Given the description of an element on the screen output the (x, y) to click on. 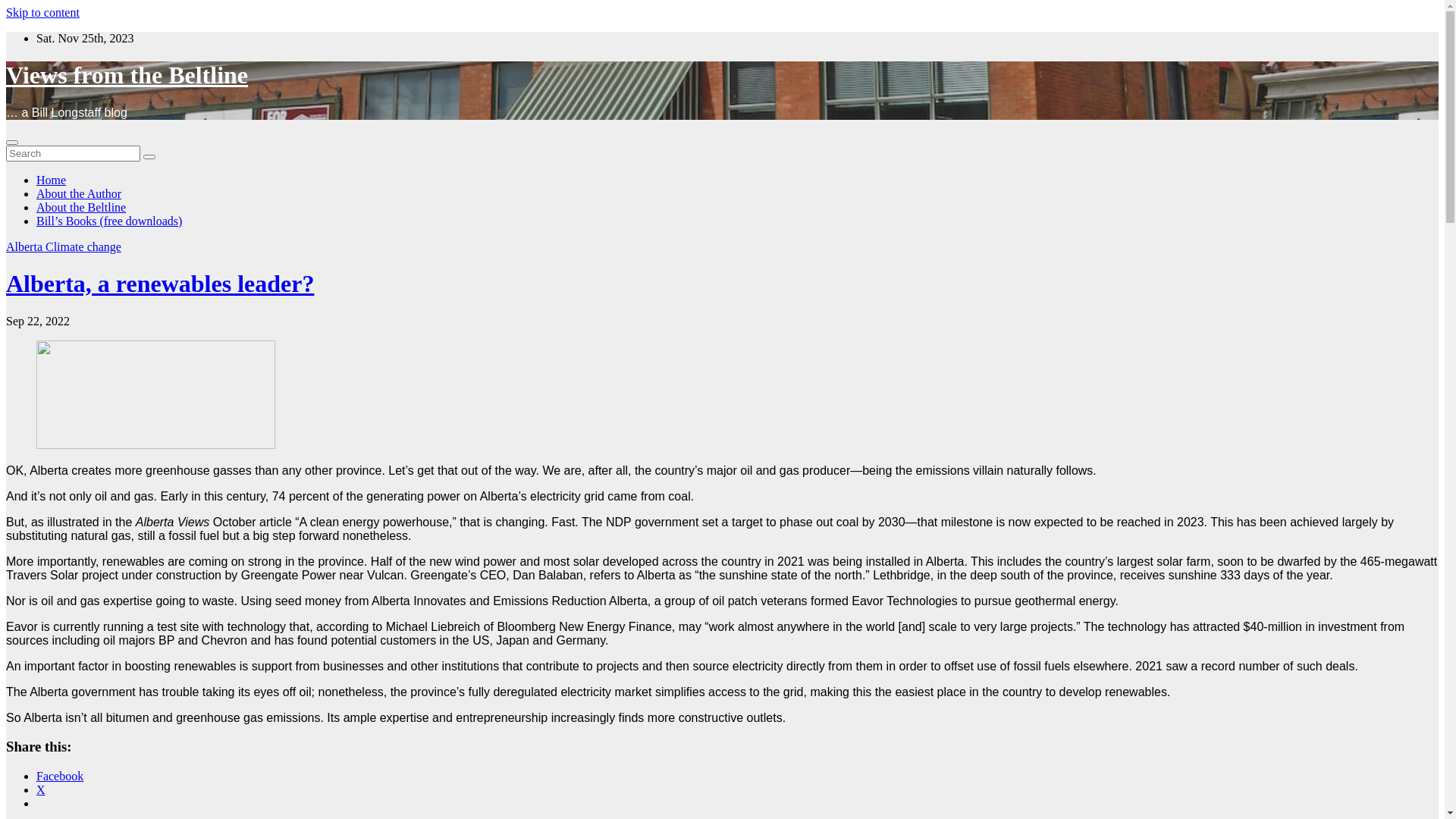
Climate change Element type: text (83, 246)
Home Element type: text (50, 179)
Skip to content Element type: text (42, 12)
Facebook Element type: text (59, 775)
Alberta Element type: text (25, 246)
About the Beltline Element type: text (80, 206)
Alberta, a renewables leader? Element type: text (159, 283)
X Element type: text (40, 789)
Views from the Beltline Element type: text (126, 74)
About the Author Element type: text (78, 193)
